Given the description of an element on the screen output the (x, y) to click on. 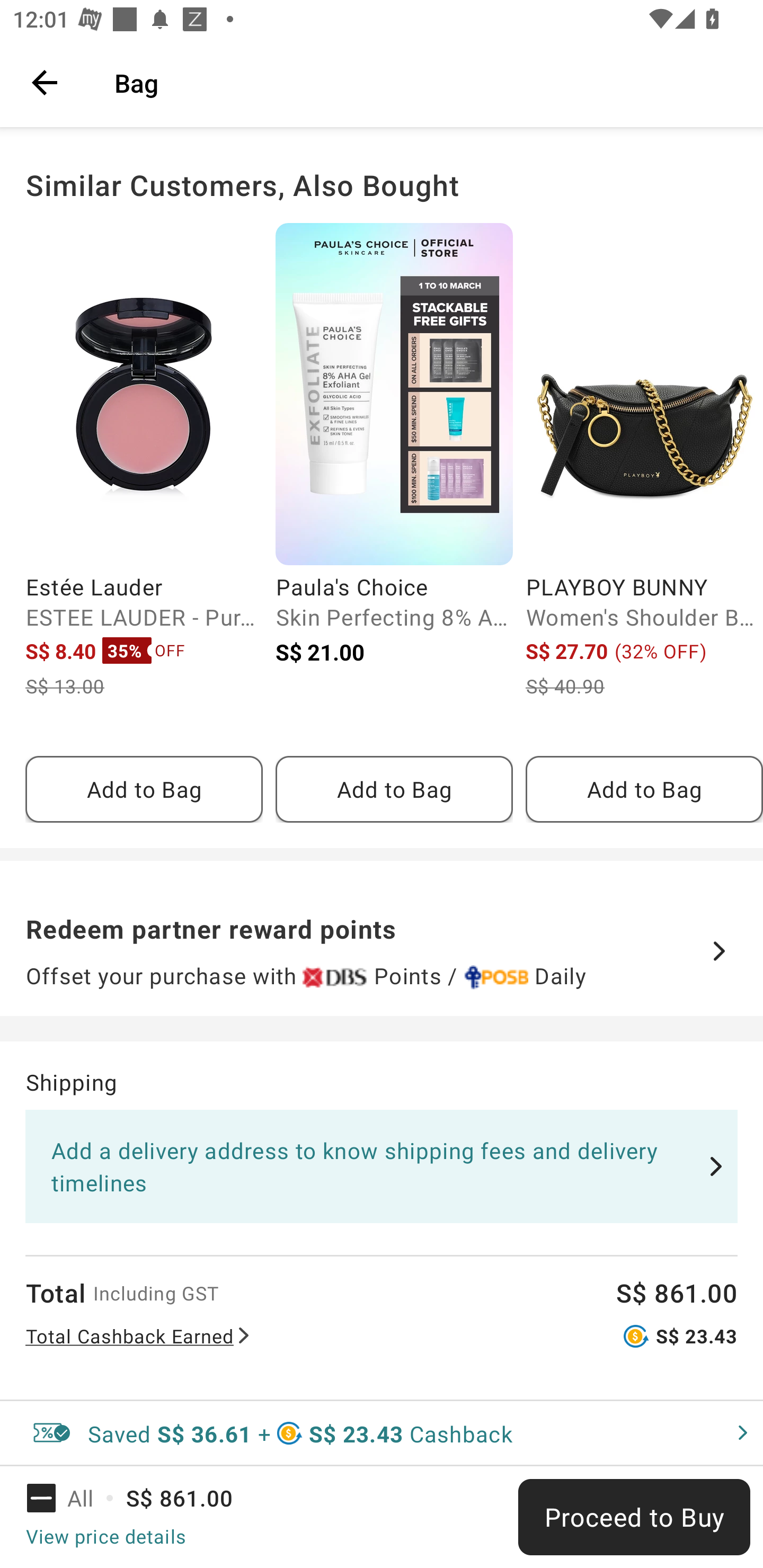
Navigate up (44, 82)
Bag (426, 82)
Add to Bag (143, 789)
Add to Bag (393, 789)
Add to Bag (644, 789)
Saved S$ 36.61 +   S$ 23.43 Cashback (381, 1432)
All (72, 1497)
Proceed to Buy (634, 1516)
View price details (105, 1535)
